Given the description of an element on the screen output the (x, y) to click on. 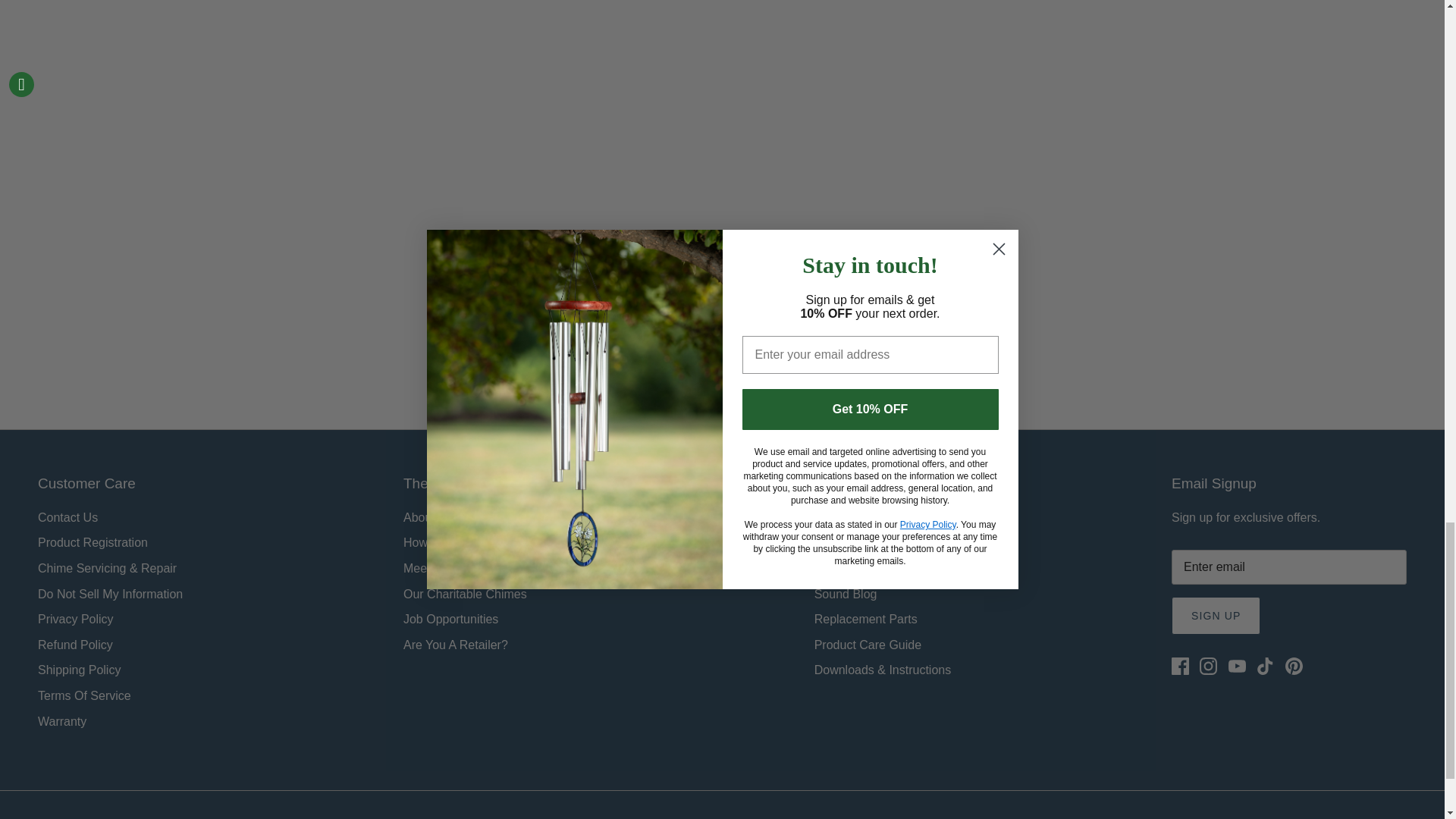
Youtube (1237, 665)
Instagram (1208, 665)
Facebook (1180, 665)
Pinterest (1294, 665)
